Given the description of an element on the screen output the (x, y) to click on. 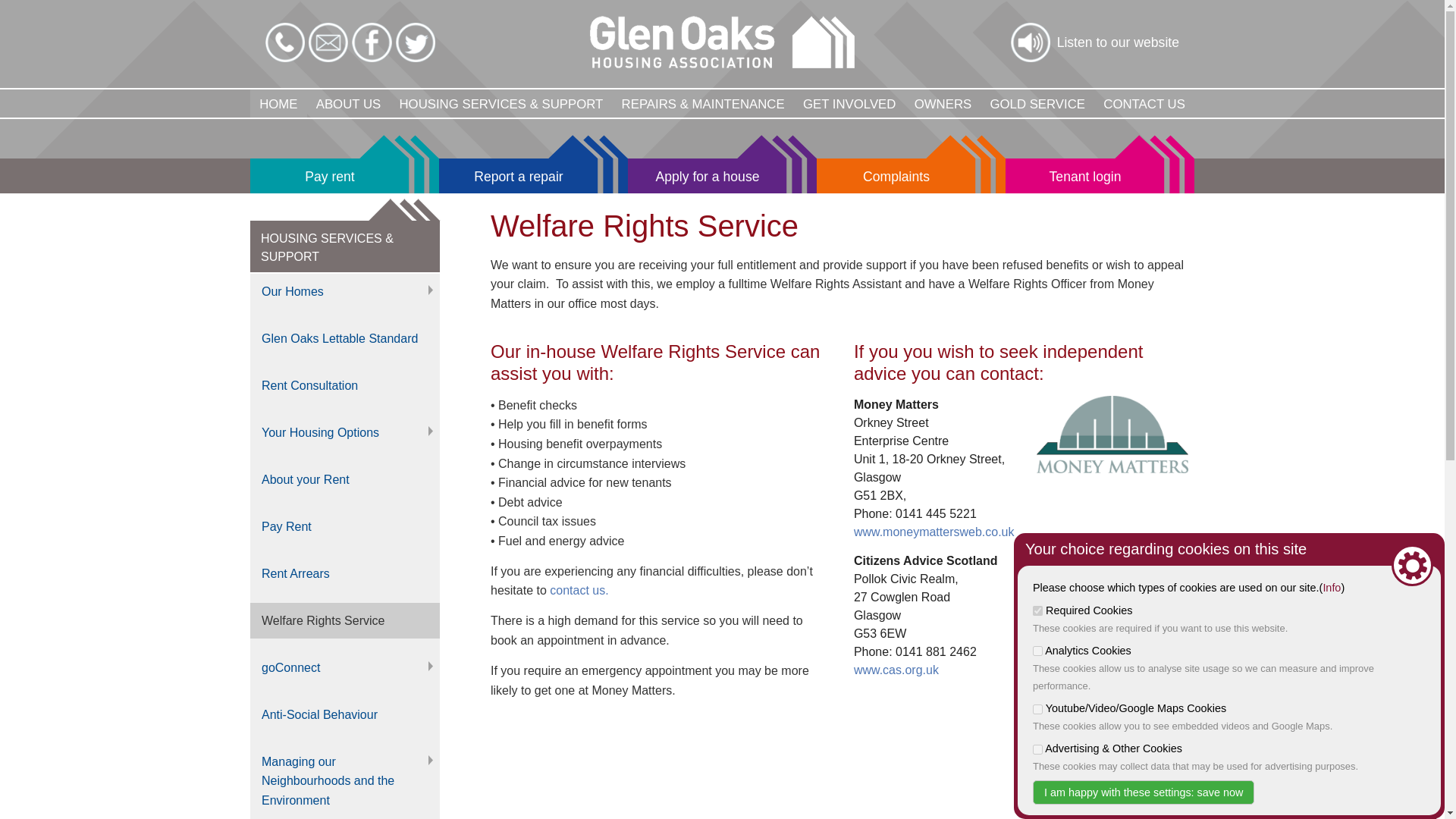
on (1037, 610)
on (1037, 651)
on (1037, 749)
HOME (278, 103)
ABOUT US (348, 103)
Listen to our website (1094, 42)
on (1037, 709)
